Given the description of an element on the screen output the (x, y) to click on. 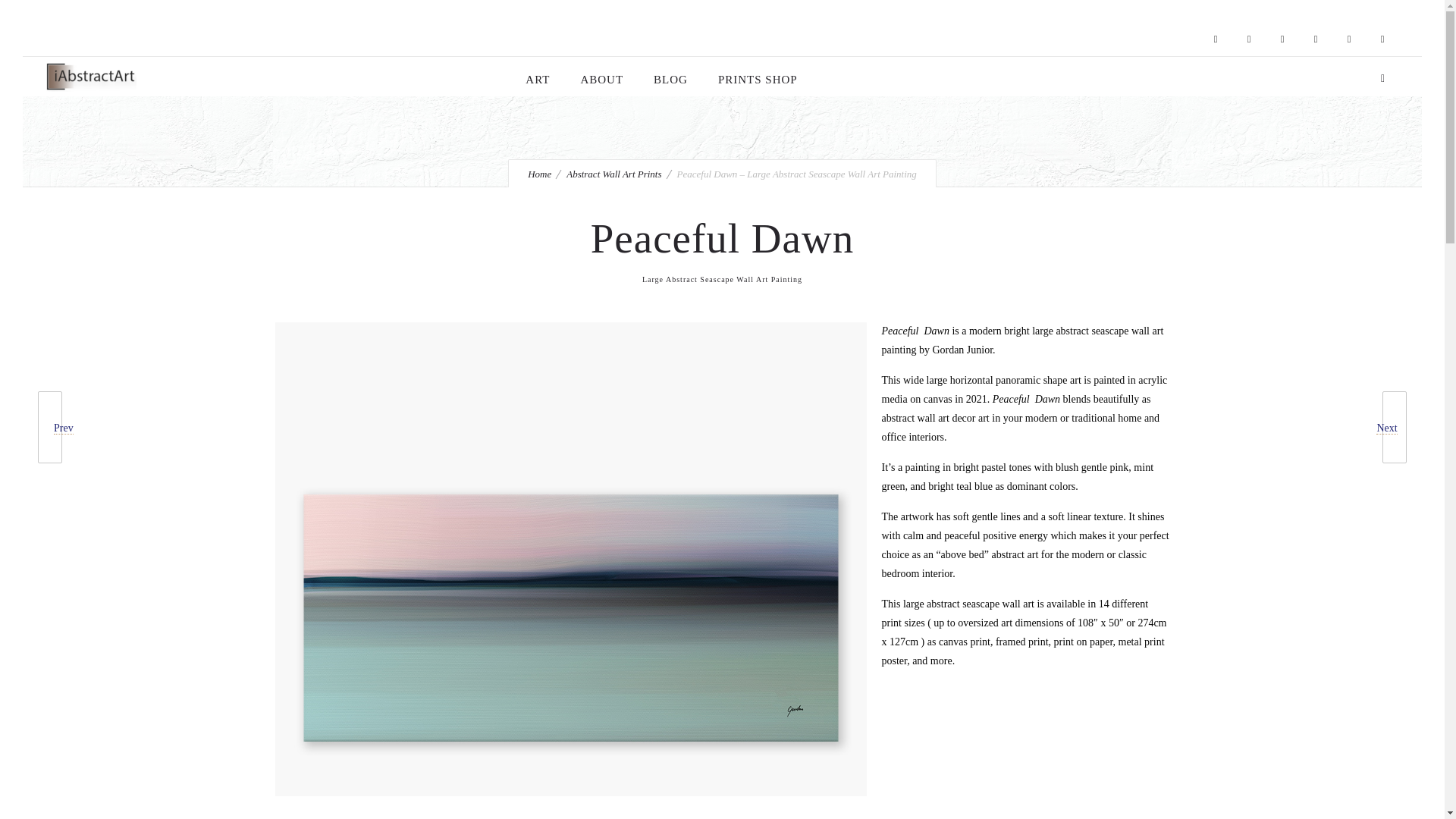
Instagram (1248, 39)
ART (537, 79)
Home (539, 173)
BLOG (671, 79)
Facebook (1214, 39)
ABOUT (601, 79)
Pinterest (1281, 39)
Abstract Wall Art Prints (613, 173)
PRINTS SHOP (757, 79)
Twitter (1348, 39)
Tumblr (1315, 39)
